Given the description of an element on the screen output the (x, y) to click on. 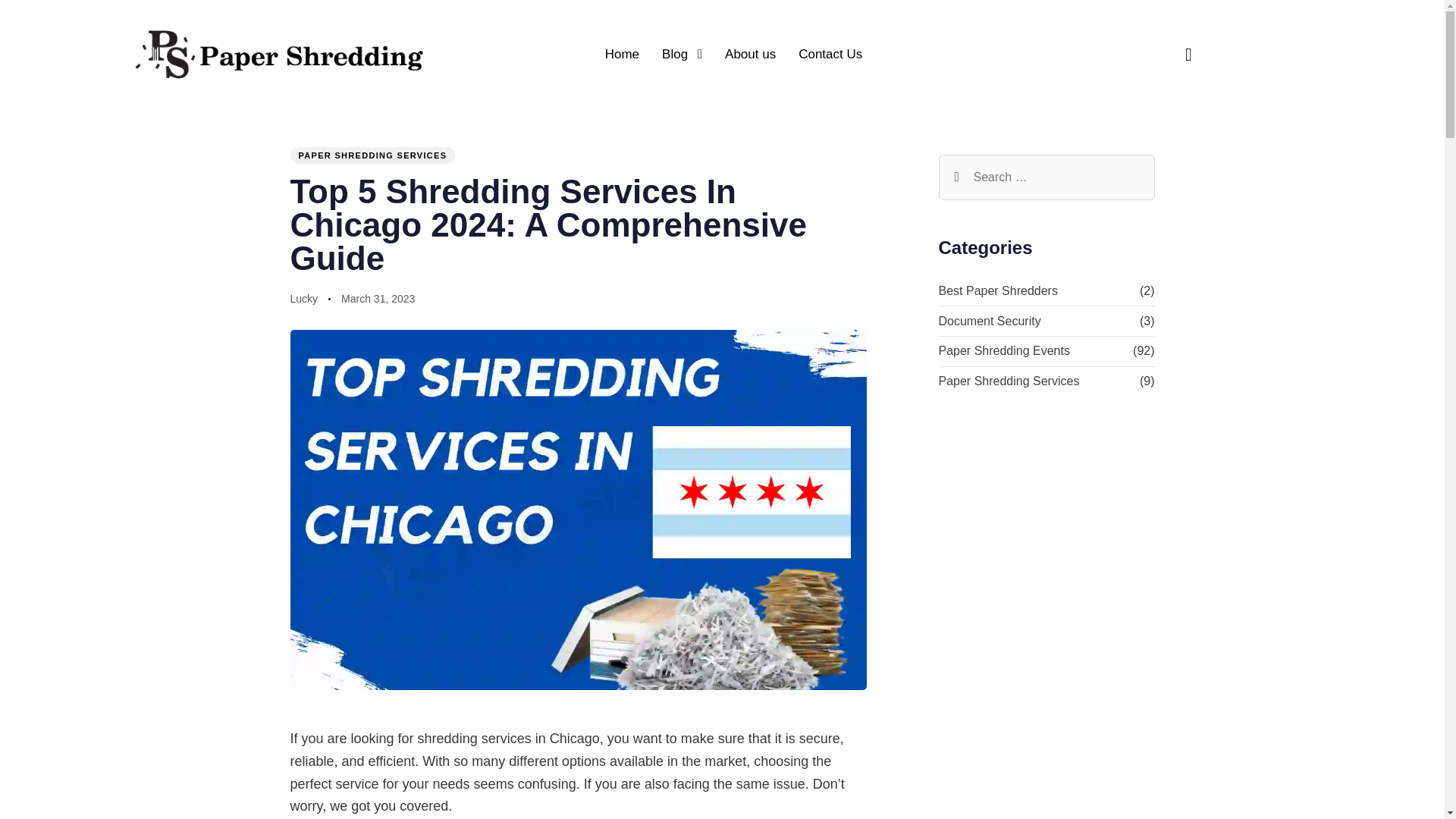
About us (750, 54)
Posts by Lucky (303, 298)
Contact Us (830, 54)
March 31, 2023 (377, 299)
PAPER SHREDDING SERVICES (371, 155)
Home (622, 54)
Blog (681, 54)
Lucky (303, 298)
